Given the description of an element on the screen output the (x, y) to click on. 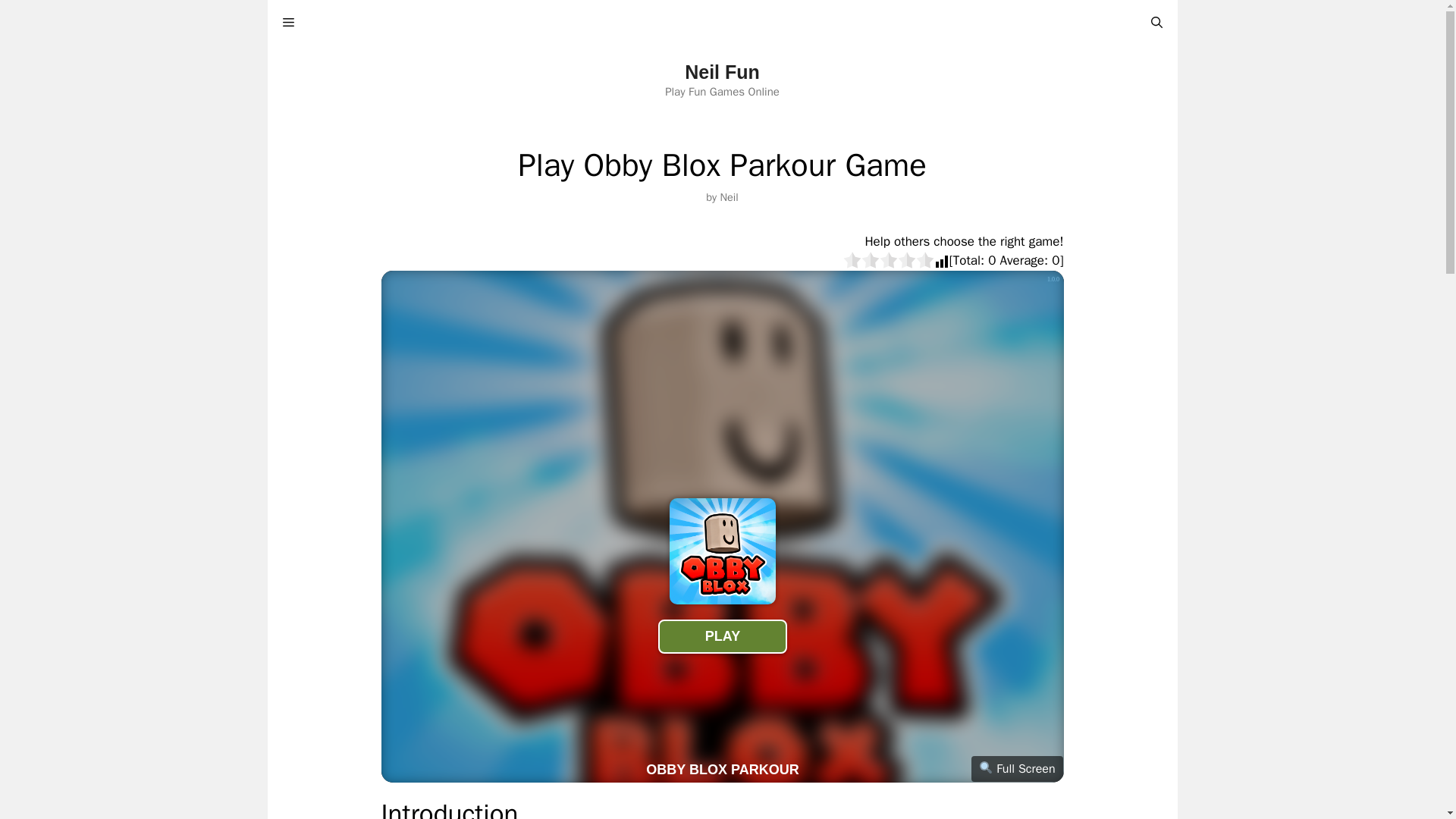
Neil (728, 196)
Full Screen (1016, 768)
View all posts by Neil (728, 196)
Neil Fun (722, 71)
